Given the description of an element on the screen output the (x, y) to click on. 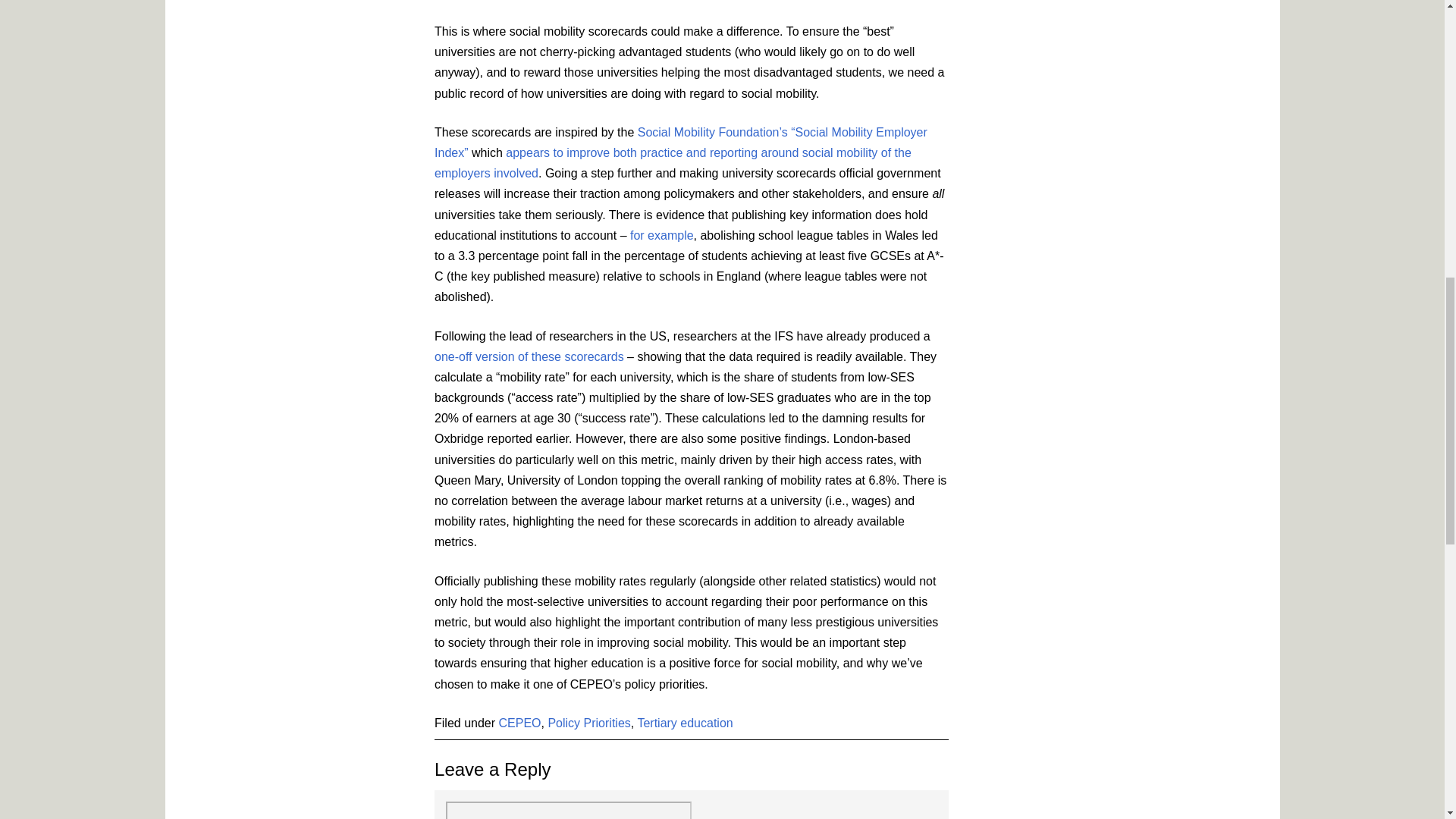
Tertiary education (684, 722)
one-off version of these scorecards (528, 356)
CEPEO (520, 722)
Policy Priorities (588, 722)
for example (662, 235)
